Given the description of an element on the screen output the (x, y) to click on. 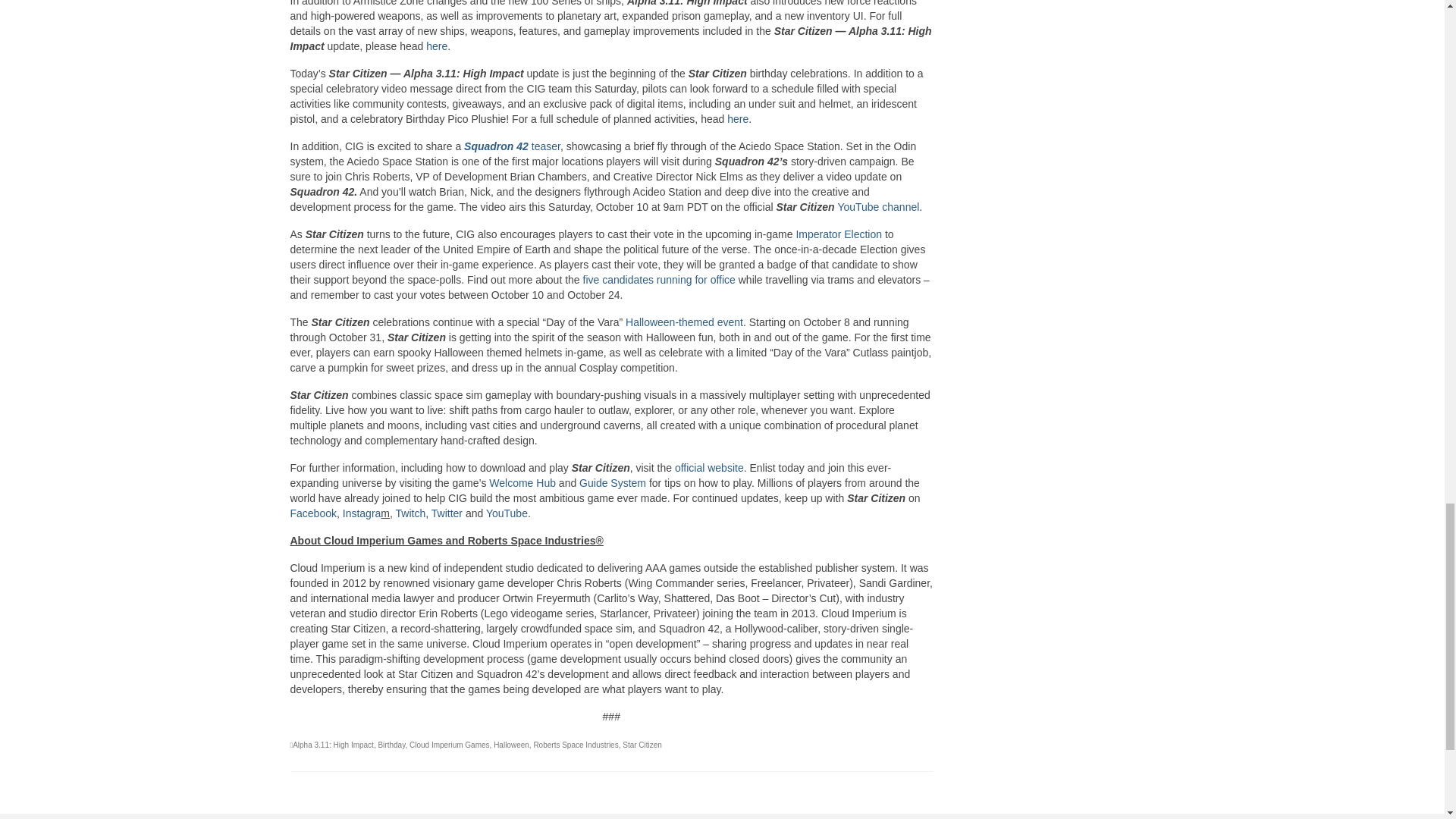
Halloween-themed event (684, 322)
Facebook (312, 512)
Welcome Hub (522, 482)
official website (709, 467)
here (737, 119)
YouTube channel (877, 206)
office (722, 279)
here (436, 46)
candidates (627, 279)
five (591, 279)
for (700, 279)
Instagra (361, 512)
Guide System (612, 482)
running (674, 279)
Squadron 42 teaser (512, 146)
